Given the description of an element on the screen output the (x, y) to click on. 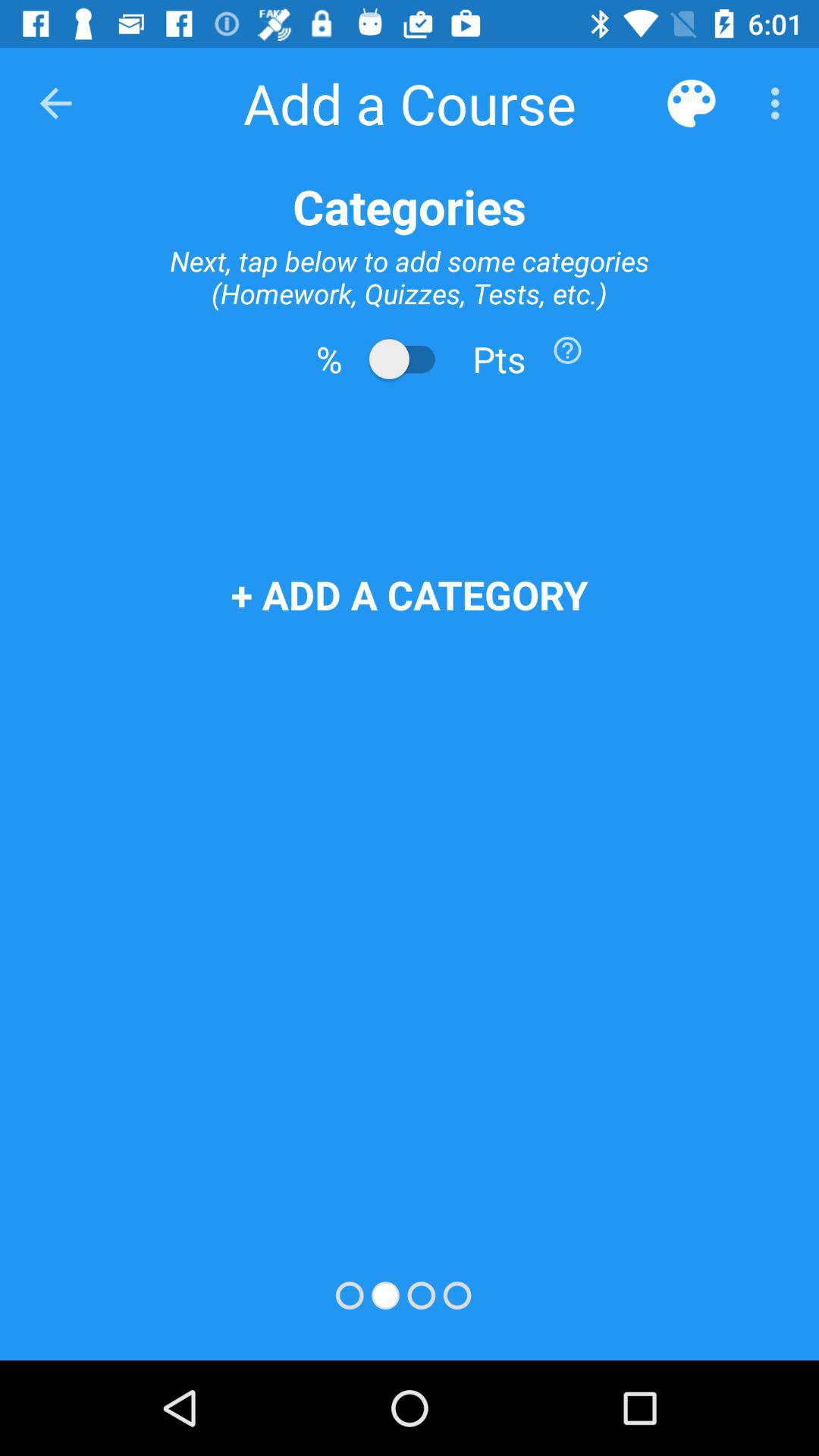
press icon below the next tap below icon (567, 350)
